Given the description of an element on the screen output the (x, y) to click on. 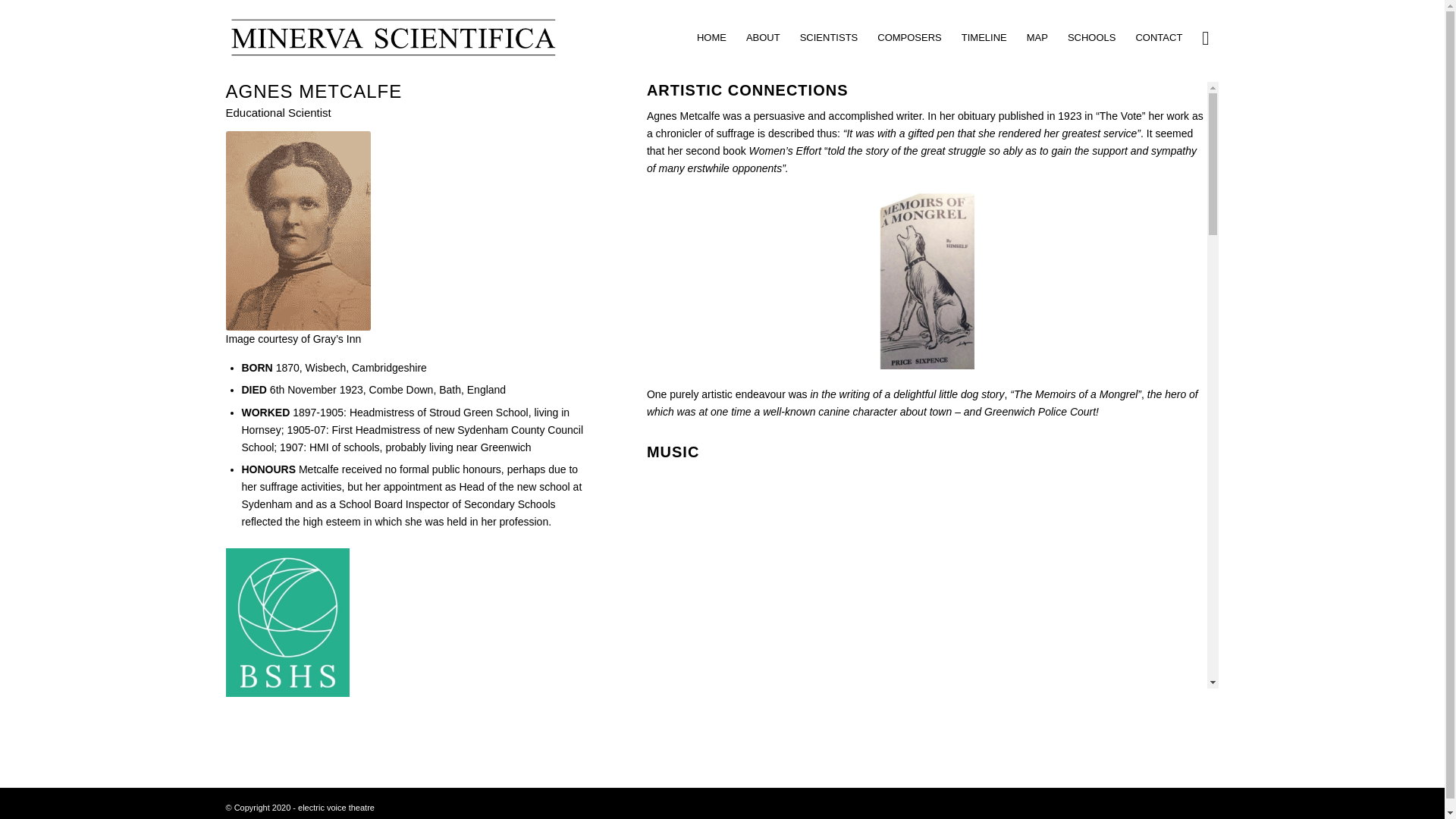
SCIENTISTS (828, 37)
Agnes Metcalfe (298, 230)
Minerva-Scientifica-black (392, 37)
ABOUT (763, 37)
HOME (711, 37)
